Given the description of an element on the screen output the (x, y) to click on. 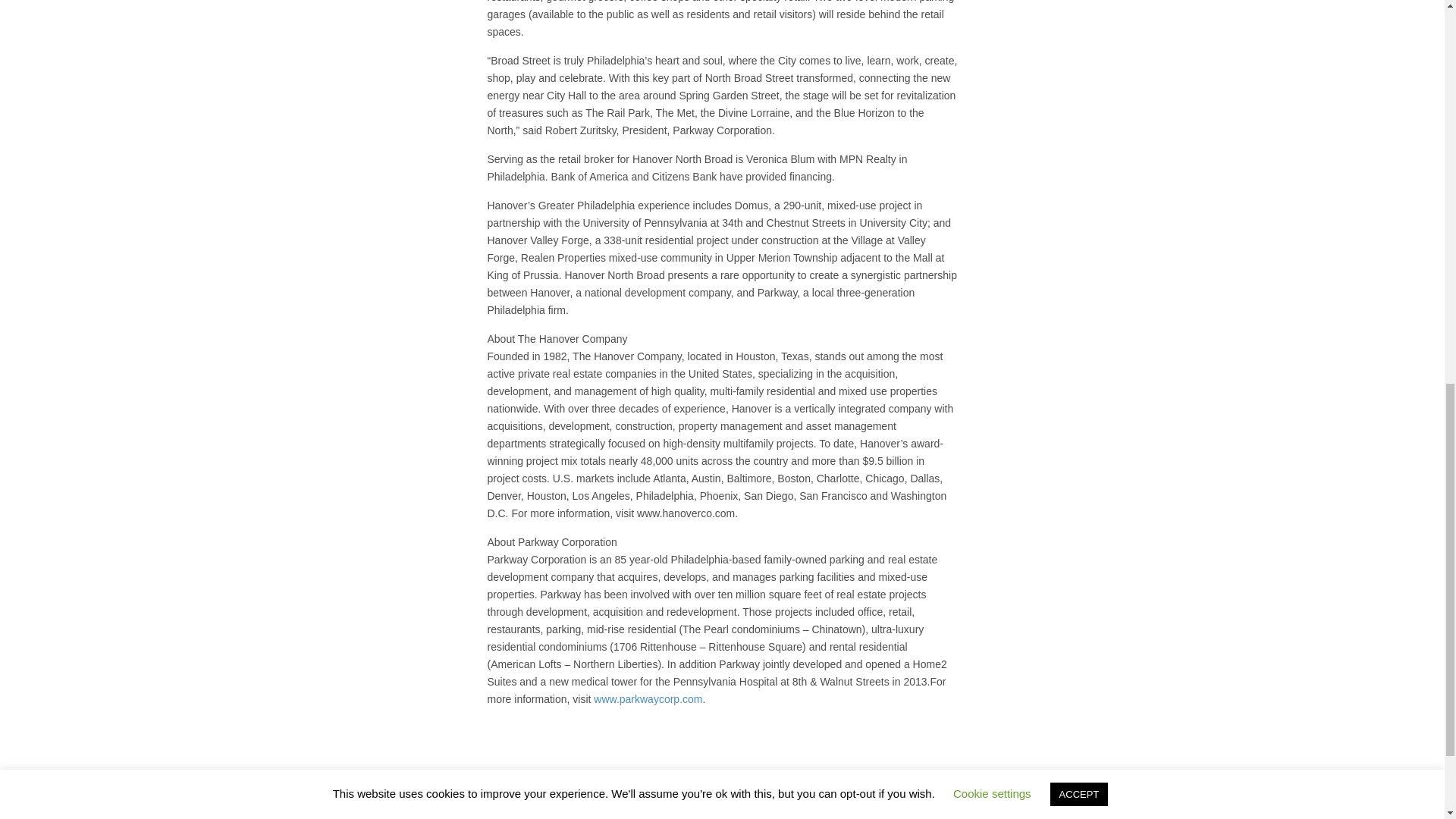
www.parkwaycorp.com (647, 698)
